Given the description of an element on the screen output the (x, y) to click on. 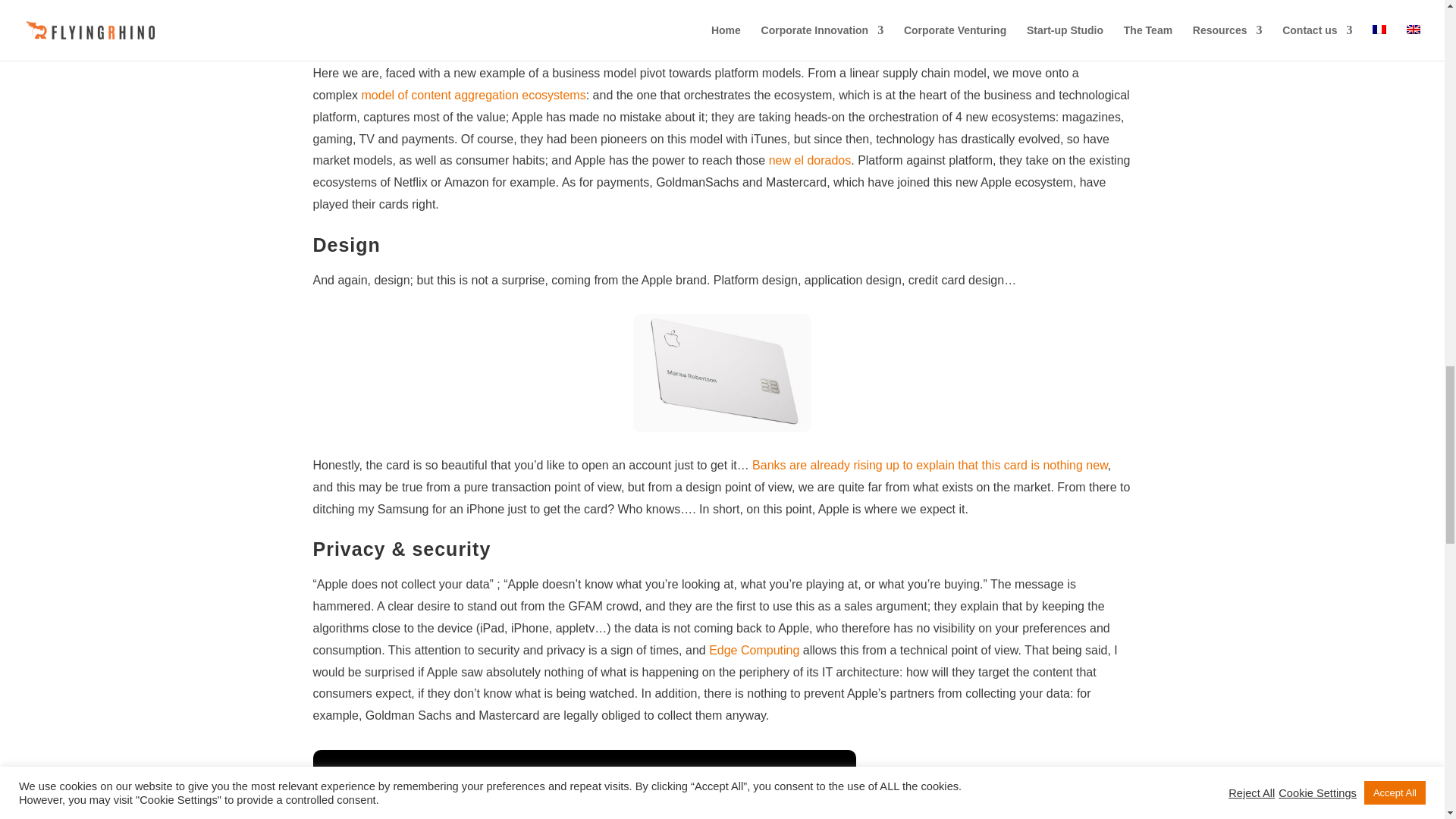
image 3 ar 3 (584, 784)
new el dorados (809, 160)
 model of content aggregation ecosystems (472, 94)
image 2 ar 3 (721, 372)
